Given the description of an element on the screen output the (x, y) to click on. 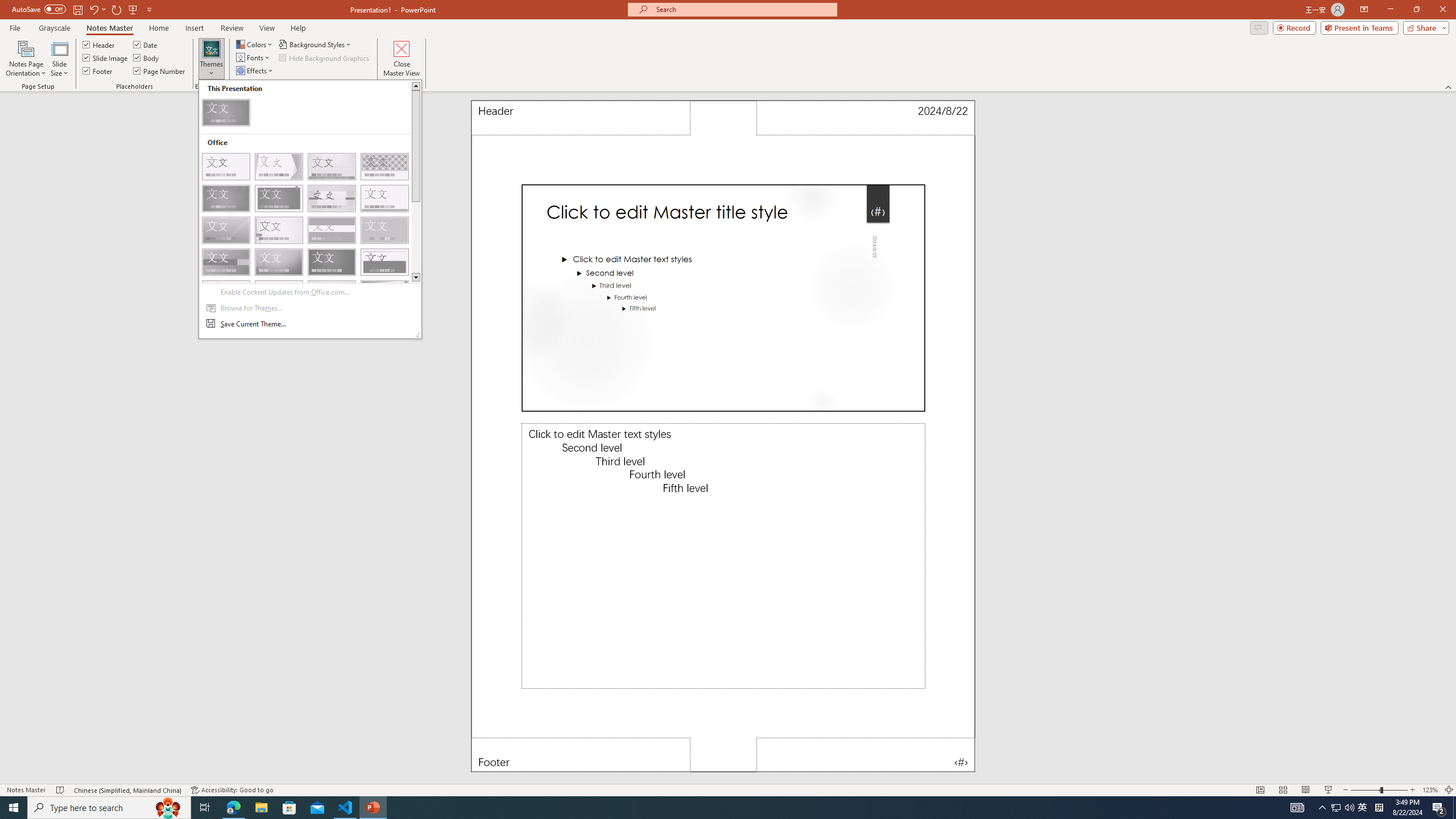
Background Styles (315, 44)
Fonts (253, 56)
Grayscale (54, 28)
